Given the description of an element on the screen output the (x, y) to click on. 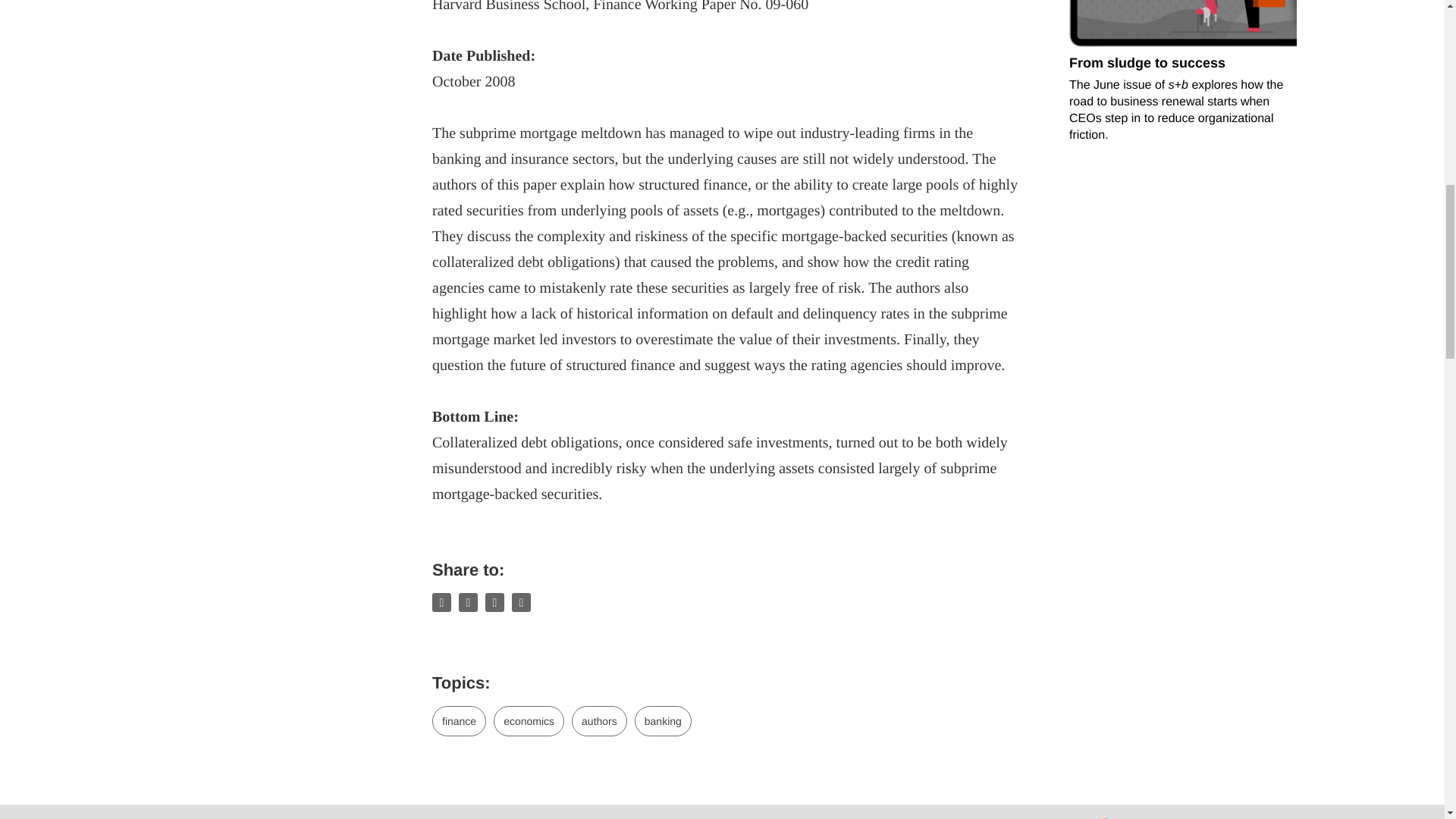
Illustration of flying birds delivering information (1067, 74)
